Given the description of an element on the screen output the (x, y) to click on. 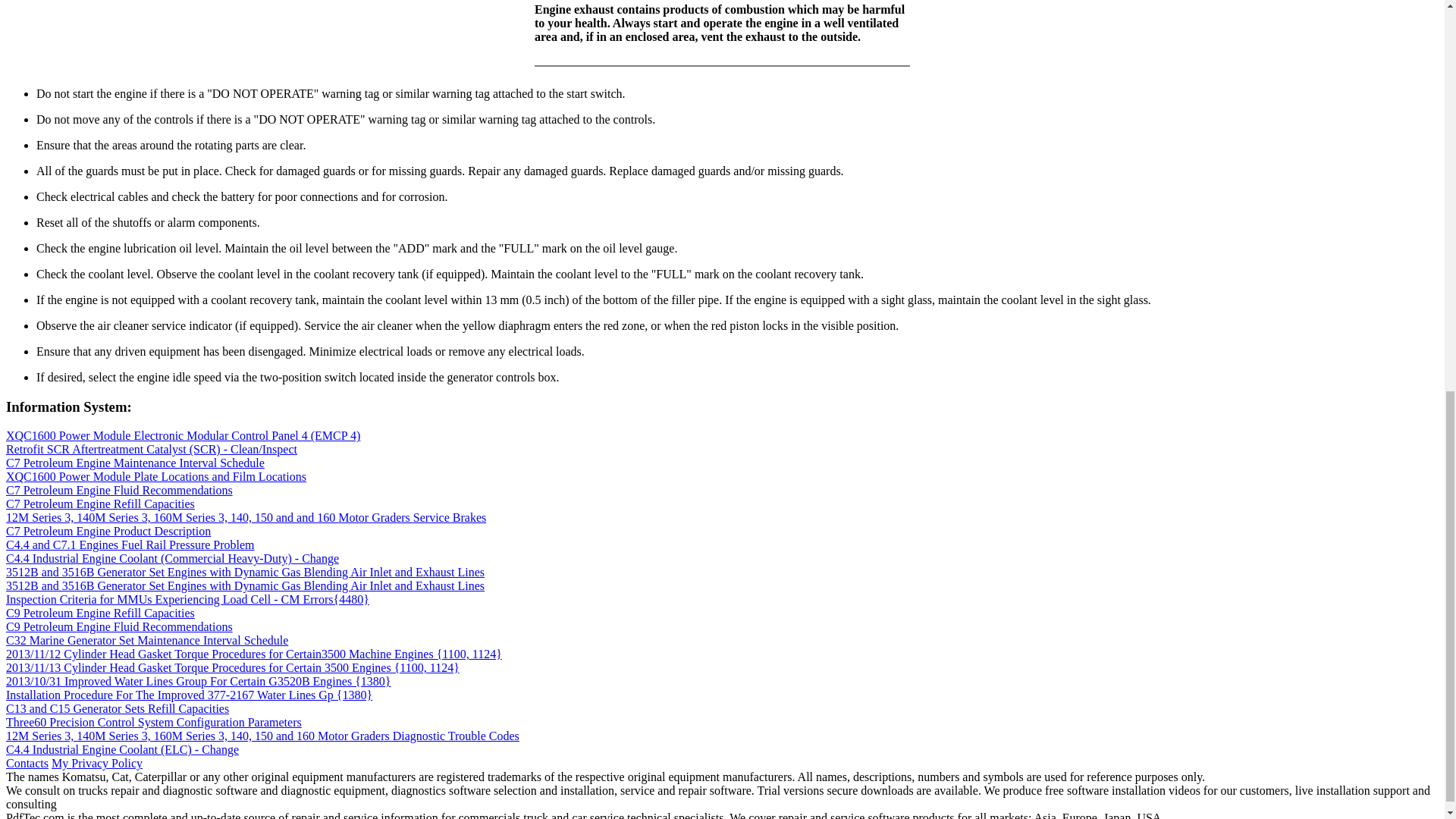
Contacts (26, 762)
Privacy Policy (106, 762)
My (60, 762)
Privacy Policy (106, 762)
